Given the description of an element on the screen output the (x, y) to click on. 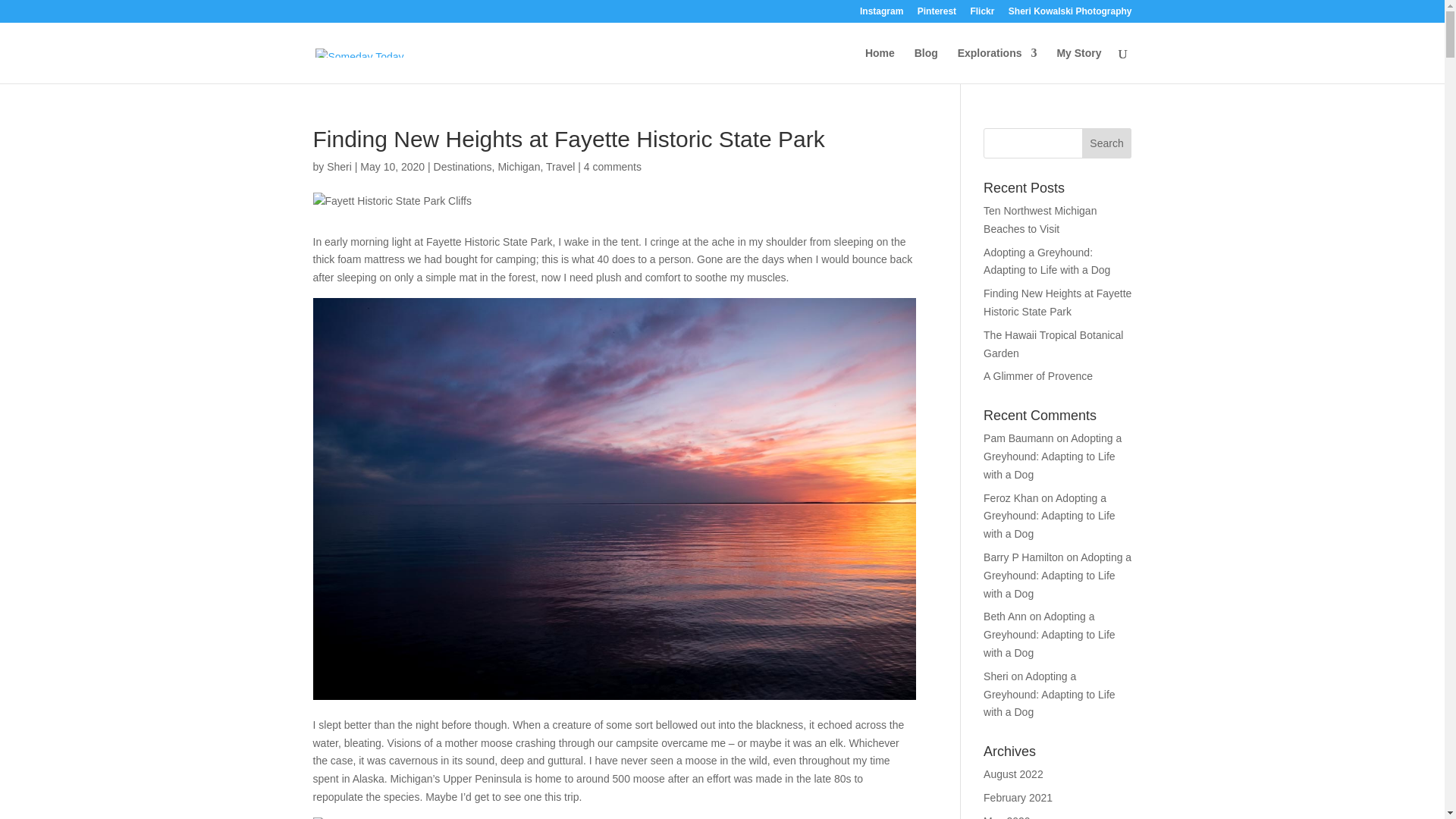
Search (1106, 142)
4 comments (612, 166)
Destinations (462, 166)
Adopting a Greyhound: Adapting to Life with a Dog (1049, 694)
Flickr (981, 14)
Search (1106, 142)
Sheri (996, 676)
Adopting a Greyhound: Adapting to Life with a Dog (1049, 516)
My Story (1078, 65)
Adopting a Greyhound: Adapting to Life with a Dog (1046, 261)
Adopting a Greyhound: Adapting to Life with a Dog (1052, 456)
Sheri (339, 166)
A Glimmer of Provence (1038, 376)
The Hawaii Tropical Botanical Garden (1053, 344)
Beth Ann (1005, 616)
